Given the description of an element on the screen output the (x, y) to click on. 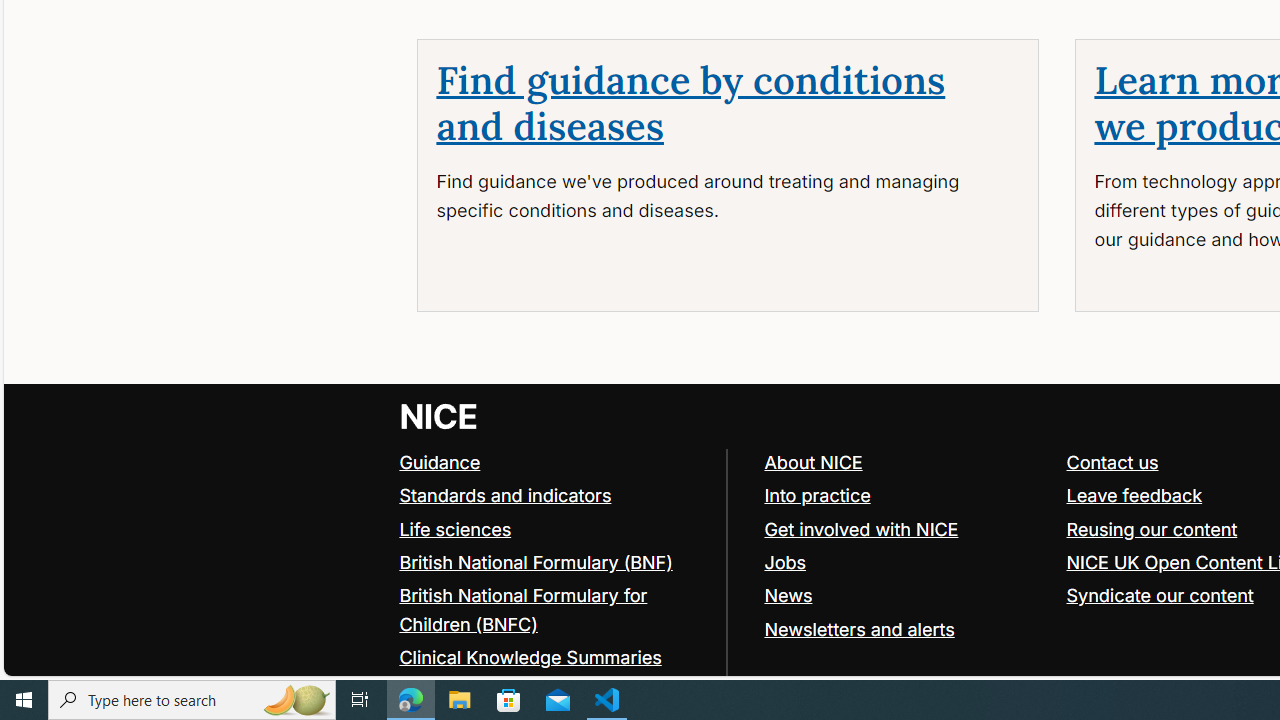
Get involved with NICE (906, 529)
Jobs (785, 561)
British National Formulary for Children (BNFC) (523, 609)
Go to NICE home page (439, 416)
Guidance (440, 461)
About NICE (813, 461)
British National Formulary for Children (BNFC) (554, 610)
Jobs (906, 562)
Life sciences (455, 528)
Reusing our content (1151, 528)
Guidance (554, 462)
